Given the description of an element on the screen output the (x, y) to click on. 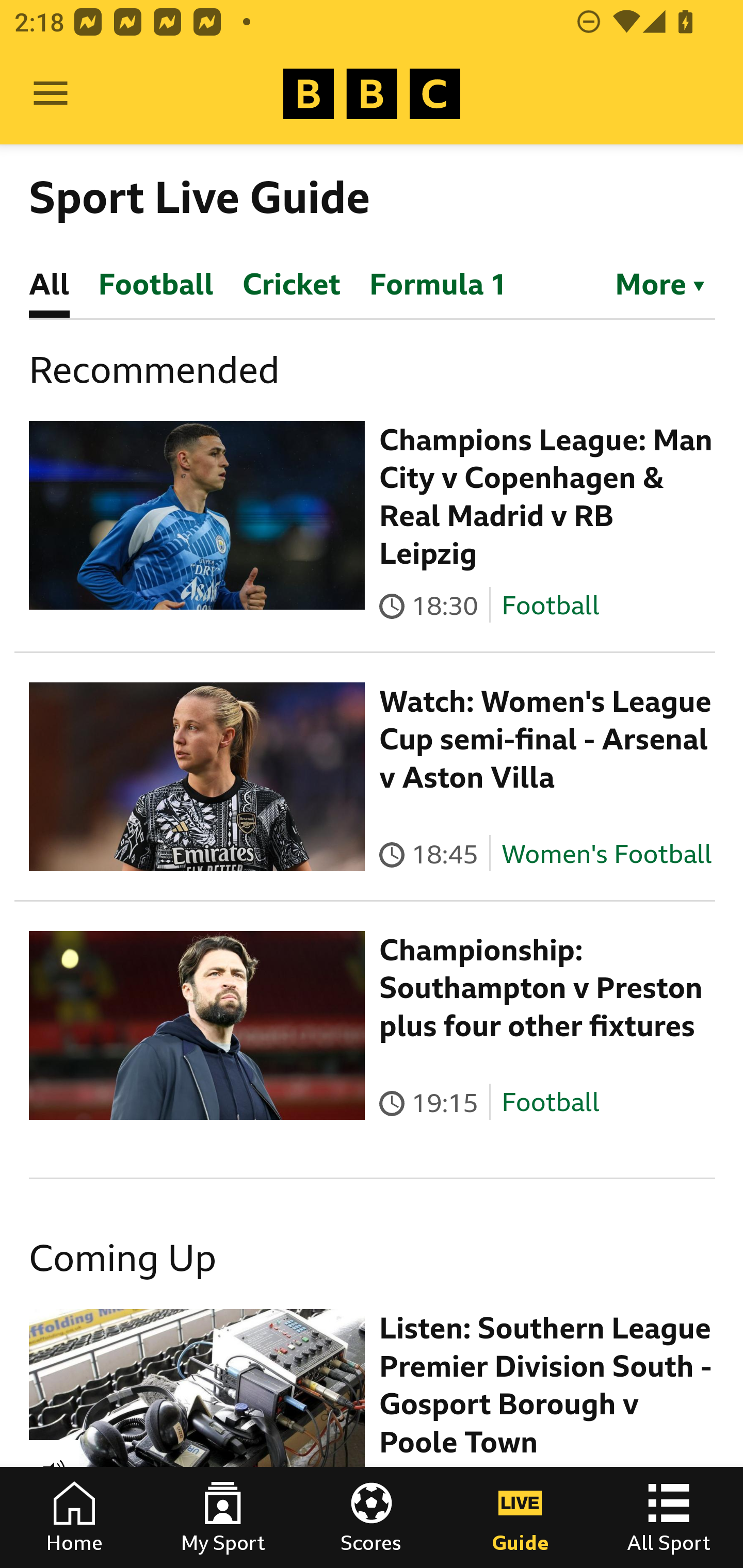
Open Menu (50, 93)
Football (550, 604)
Women's Football (606, 853)
Football (550, 1102)
Home (74, 1517)
My Sport (222, 1517)
Scores (371, 1517)
All Sport (668, 1517)
